Given the description of an element on the screen output the (x, y) to click on. 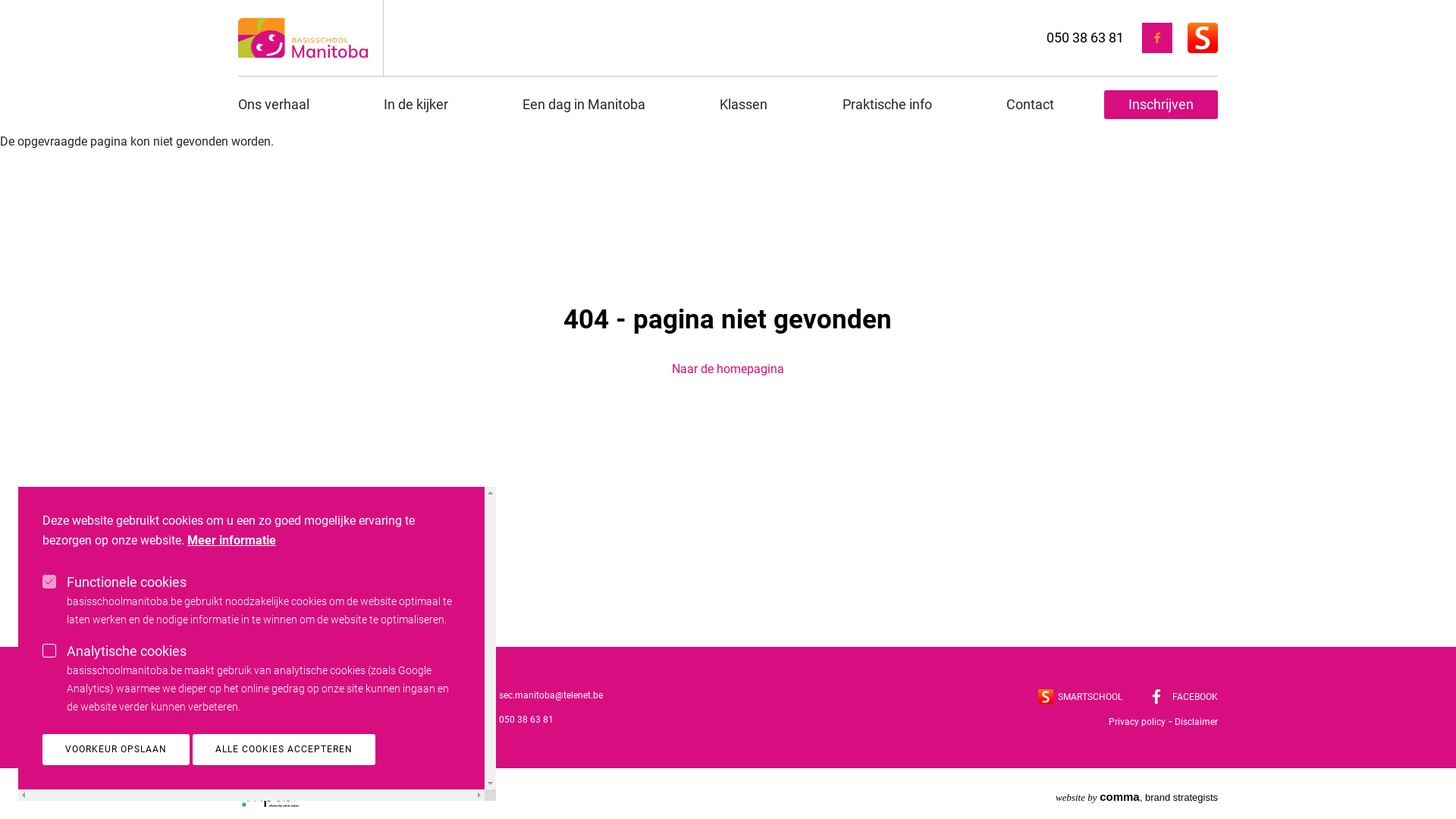
050 38 63 81 Element type: text (1084, 36)
In de kijker Element type: text (415, 104)
sec.manitoba@telenet.be Element type: text (550, 695)
Facebook Element type: hover (1156, 37)
Smartschool Element type: hover (1045, 696)
050 38 63 81 Element type: text (525, 719)
ALLE COOKIES ACCEPTEREN Element type: text (283, 749)
Meer informatie Element type: text (231, 540)
Privacy policy Element type: text (1136, 721)
Naar de homepagina Element type: text (727, 368)
Manitoba Element type: hover (268, 793)
Contact Element type: text (1030, 104)
Een dag in Manitoba Element type: text (583, 104)
Klassen Element type: text (743, 104)
Disclaimer Element type: text (1195, 721)
FACEBOOK Element type: text (1184, 696)
Smartschool Element type: hover (1202, 37)
Facebook Element type: hover (1156, 696)
Ons verhaal Element type: text (285, 104)
SMARTSCHOOL Element type: text (1080, 696)
VOORKEUR OPSLAAN Element type: text (115, 749)
Manitoba Element type: hover (302, 37)
Praktische info Element type: text (887, 104)
Inschrijven Element type: text (1160, 104)
